Given the description of an element on the screen output the (x, y) to click on. 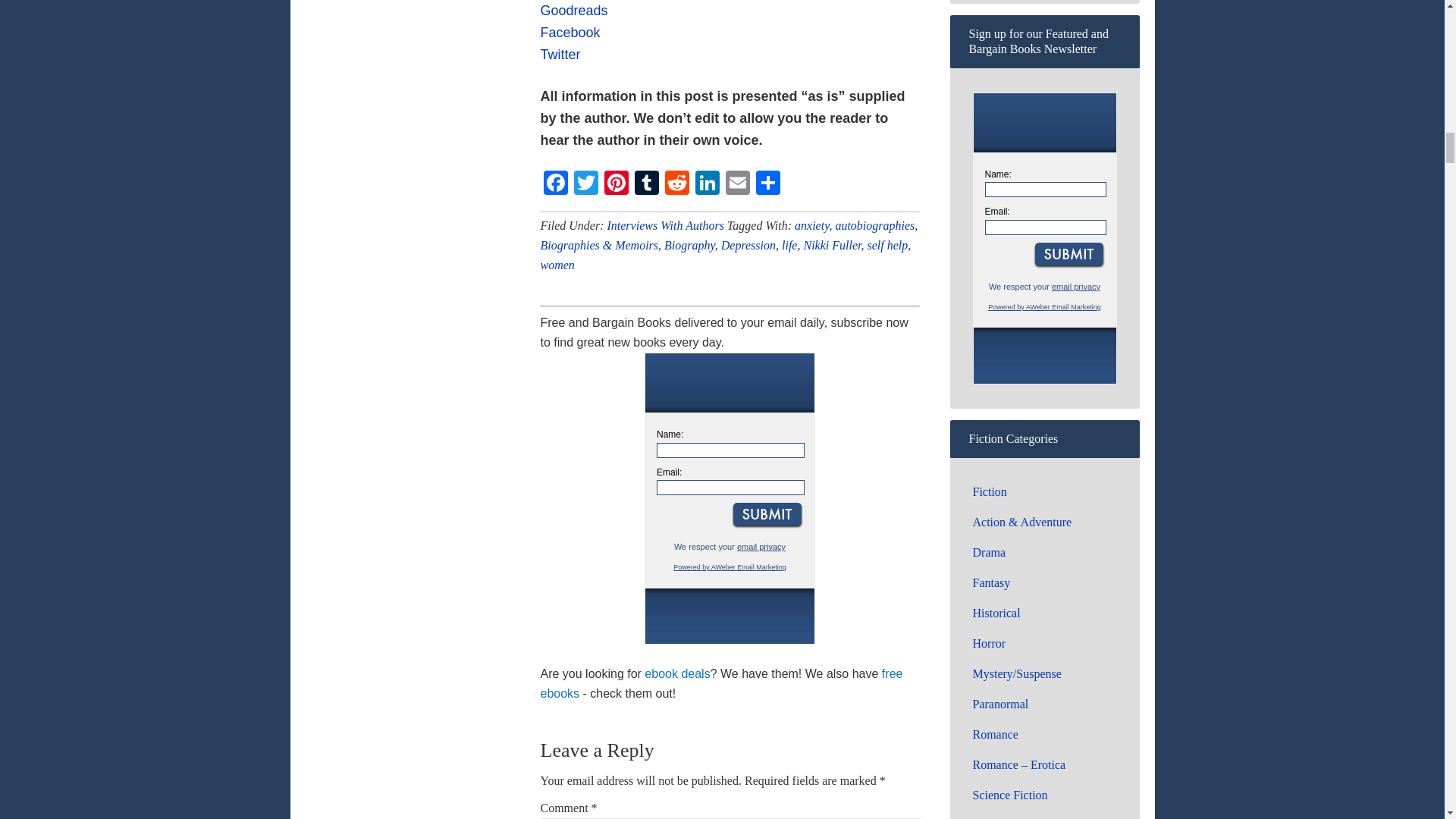
AWeber Email Marketing (729, 566)
Reddit (676, 184)
LinkedIn (706, 184)
AWeber Email Marketing (1044, 307)
Facebook (555, 184)
Facebook (569, 32)
Tumblr (645, 184)
Privacy Policy (761, 546)
Goodreads (573, 10)
Pinterest (614, 184)
Facebook (555, 184)
Email (737, 184)
Twitter (559, 54)
Privacy Policy (1075, 286)
Twitter (584, 184)
